Given the description of an element on the screen output the (x, y) to click on. 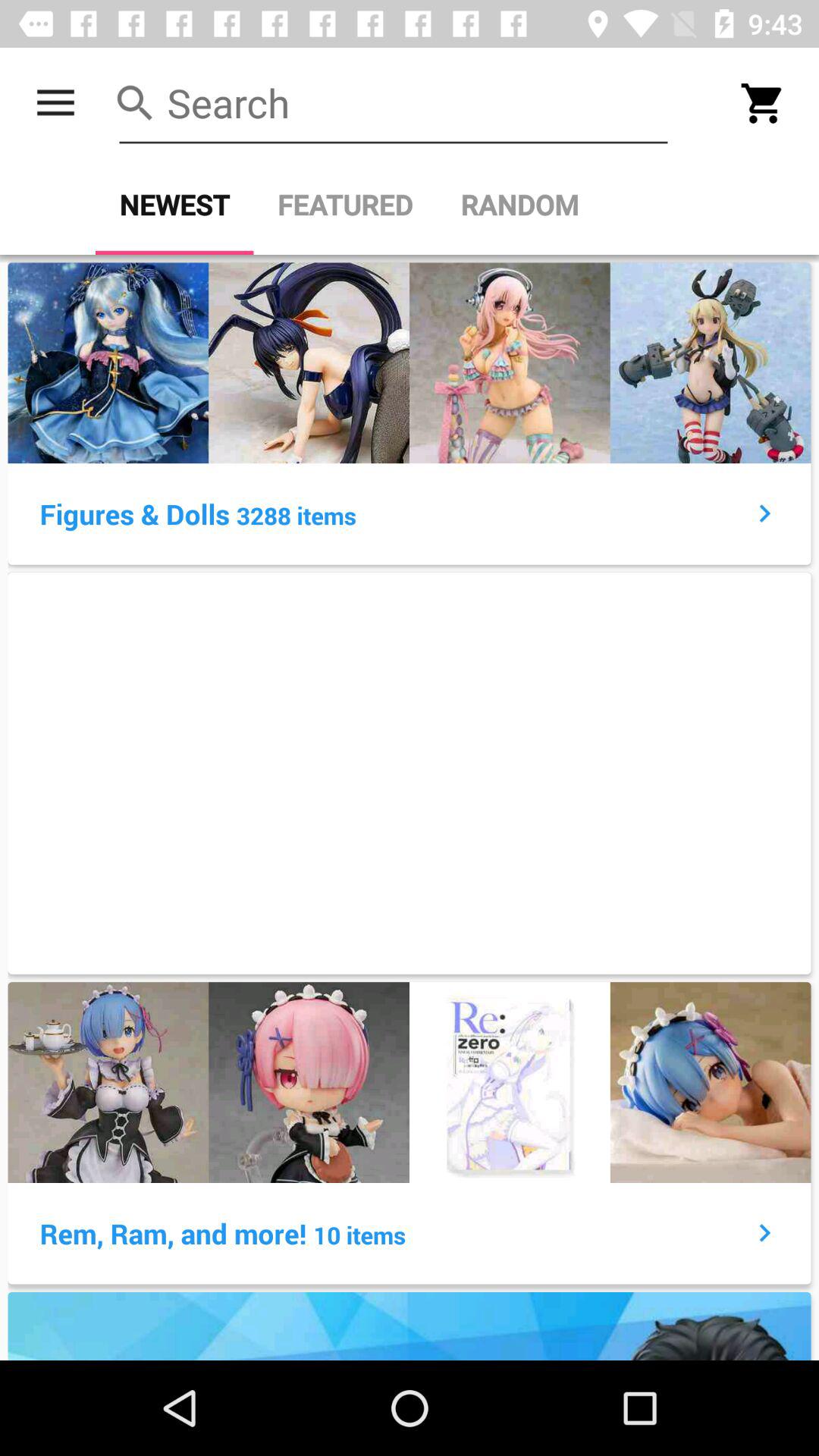
scroll until the random (519, 204)
